Given the description of an element on the screen output the (x, y) to click on. 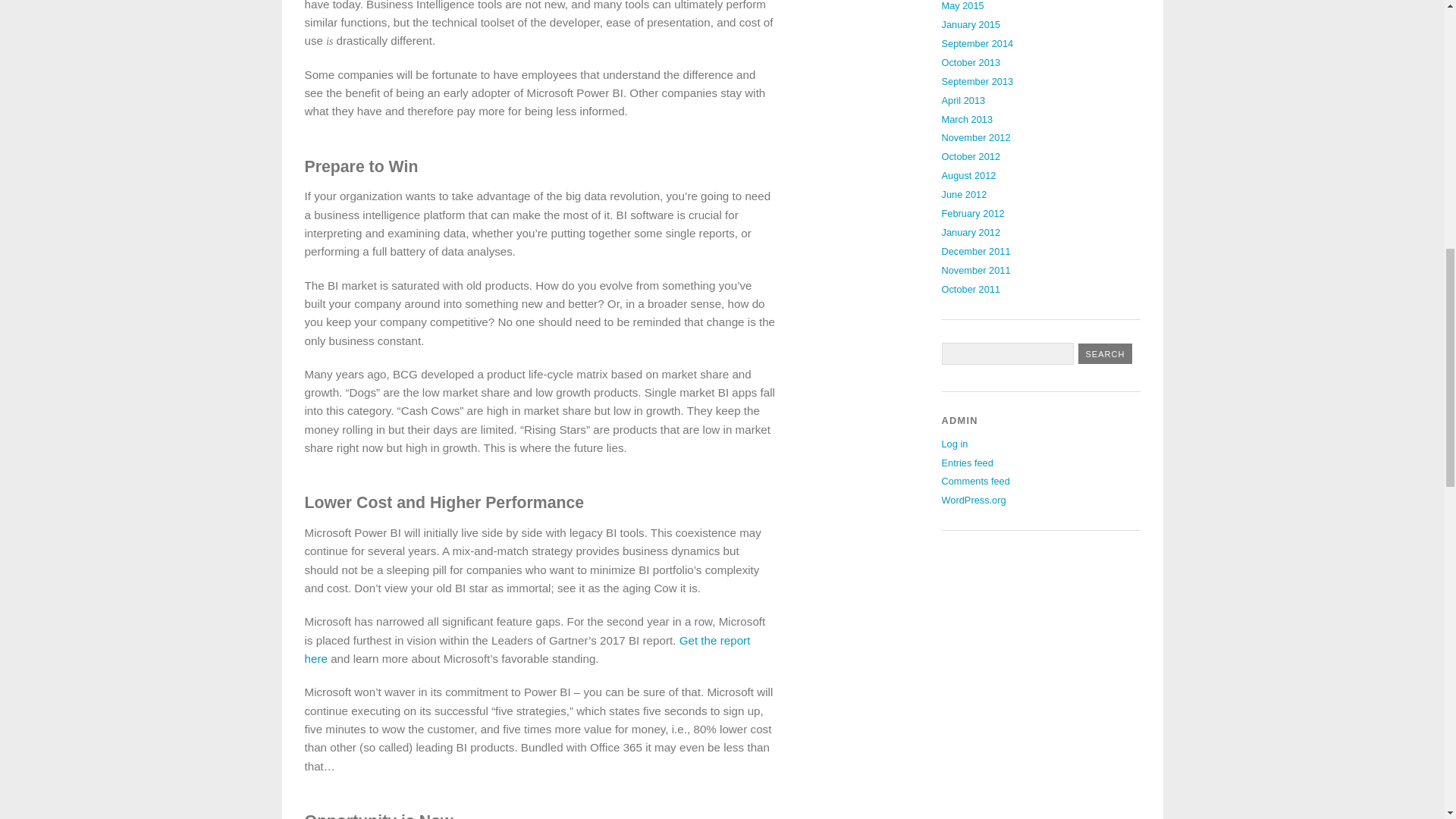
Get the report here (527, 649)
May 2015 (963, 5)
January 2015 (971, 24)
November 2012 (976, 137)
Search (1105, 353)
October 2013 (971, 61)
September 2014 (977, 43)
September 2013 (977, 81)
Search (1105, 353)
April 2013 (963, 100)
